Given the description of an element on the screen output the (x, y) to click on. 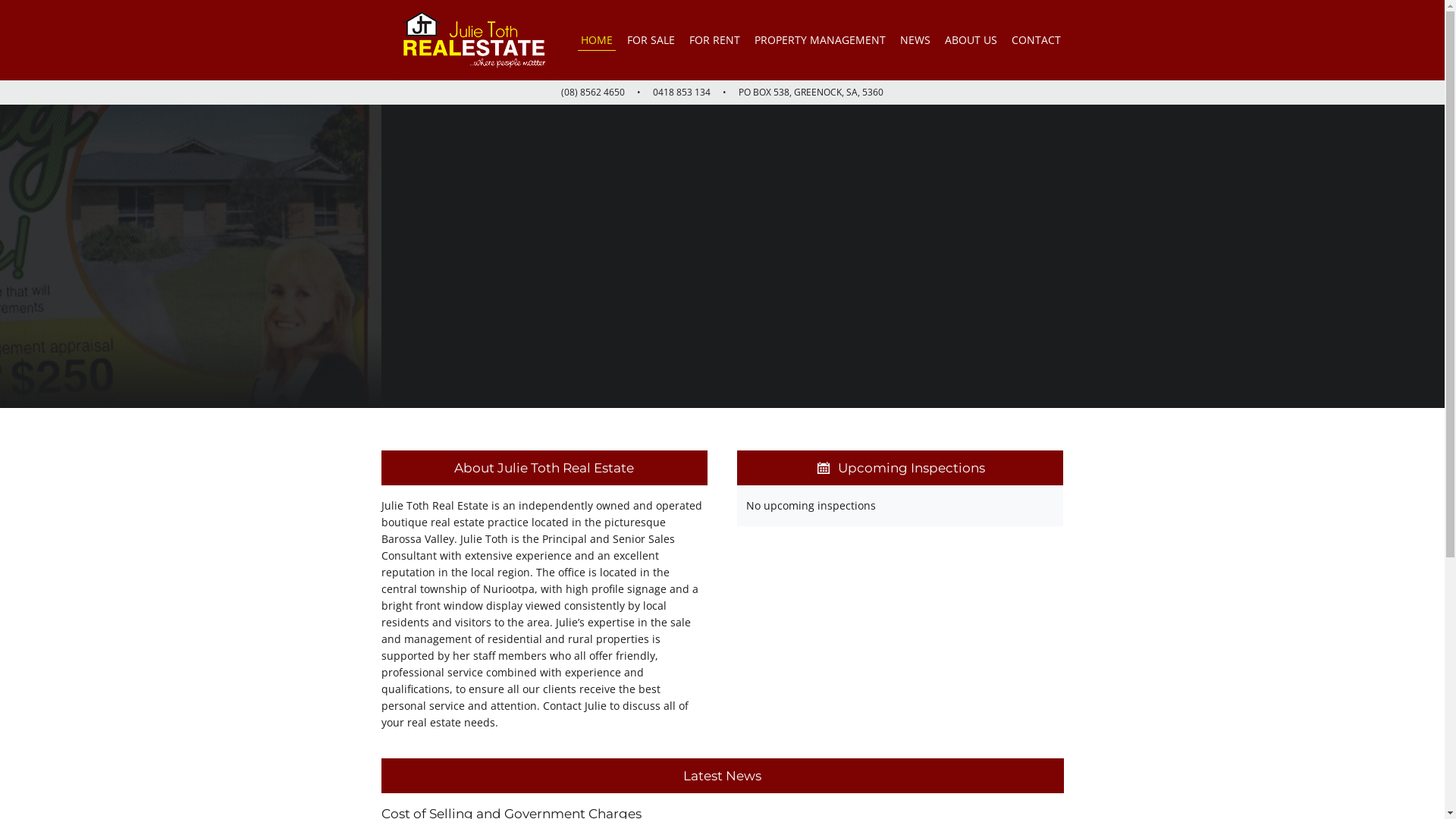
FOR RENT Element type: text (713, 39)
CONTACT Element type: text (1035, 39)
HOME Element type: text (596, 39)
FOR SALE Element type: text (650, 39)
Julie Toth Real Estate Element type: text (473, 39)
NEWS Element type: text (914, 39)
ABOUT US Element type: text (970, 39)
PROPERTY MANAGEMENT Element type: text (819, 39)
